Given the description of an element on the screen output the (x, y) to click on. 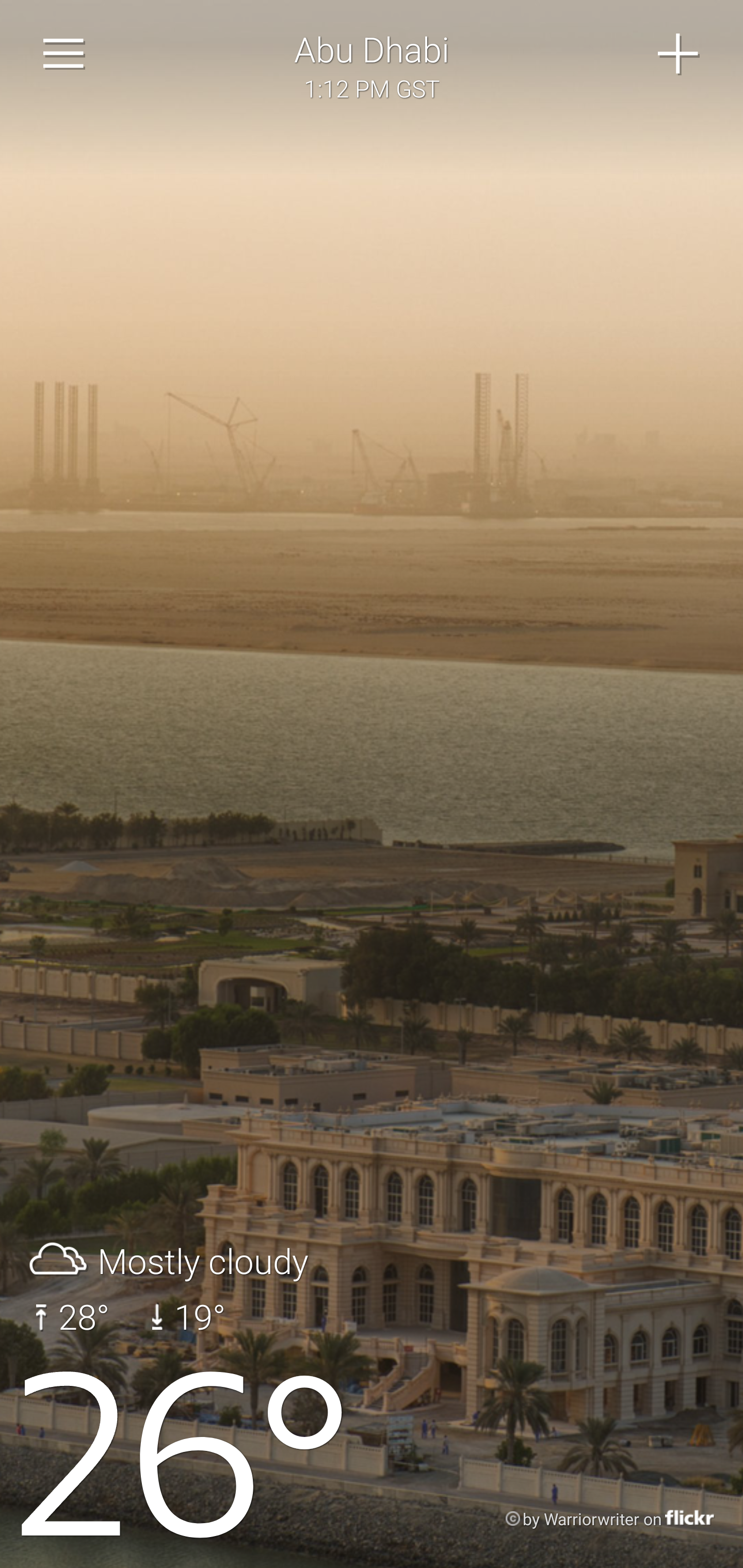
Sidebar (64, 54)
Add City (678, 53)
